Given the description of an element on the screen output the (x, y) to click on. 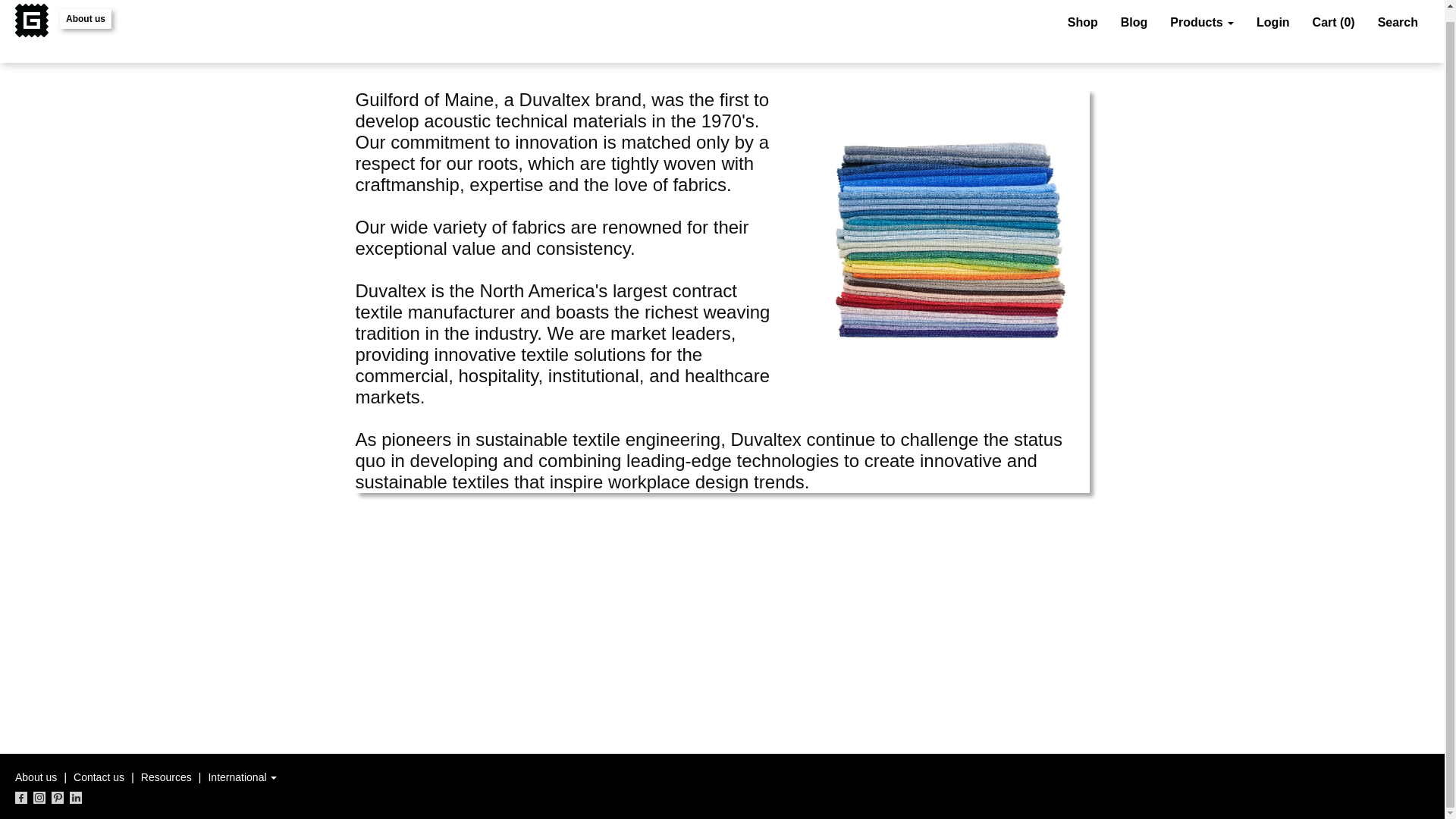
LinkedIn (75, 797)
Facebook (20, 797)
International (242, 776)
Blog (1133, 22)
Login (1272, 22)
Contact us (98, 776)
Shop (1083, 22)
About us (35, 776)
Resources (166, 776)
Search (1398, 22)
Products (1201, 22)
About us (85, 18)
Pinterest (57, 797)
Instragram (39, 797)
